Given the description of an element on the screen output the (x, y) to click on. 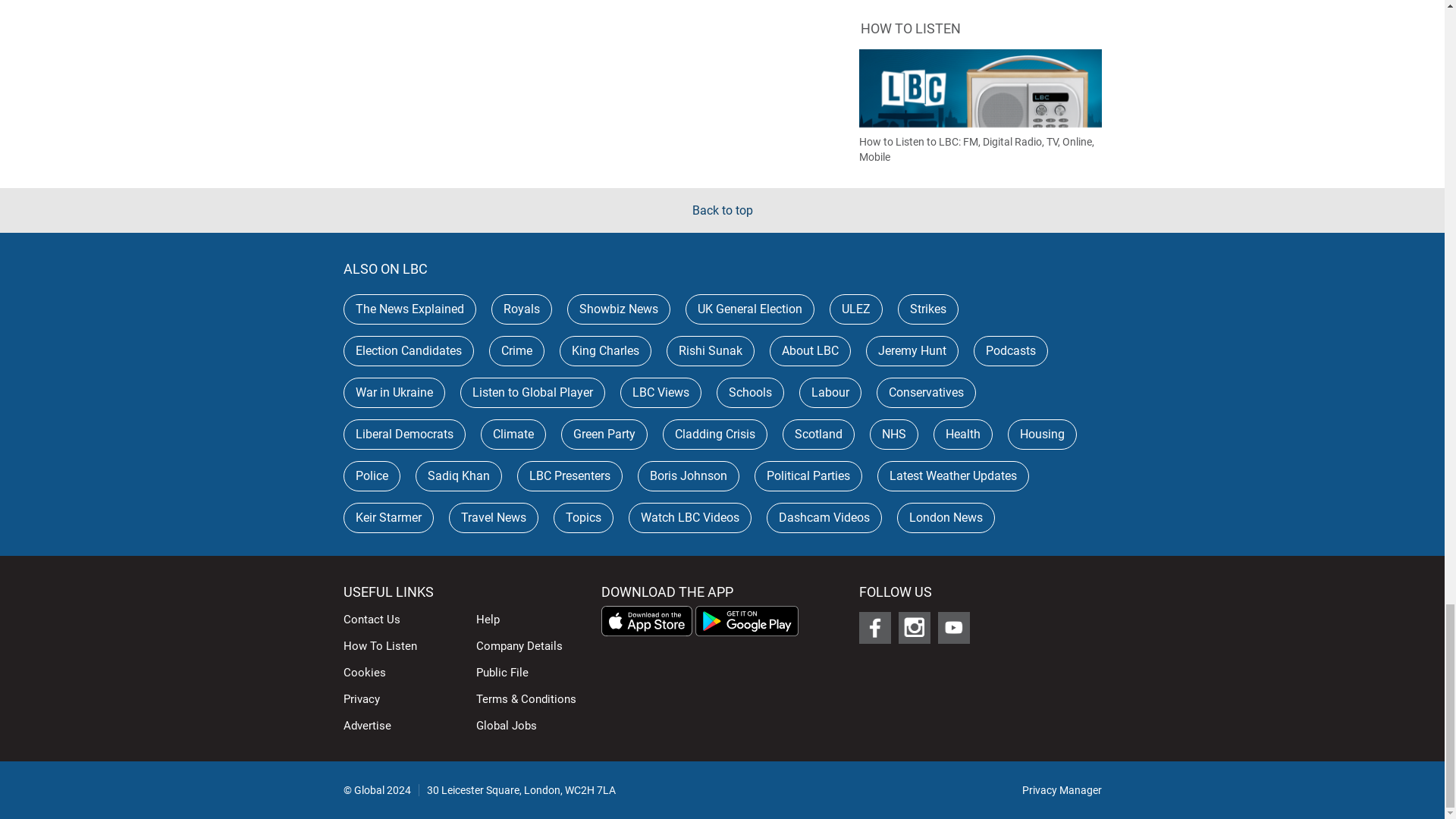
Follow LBC on Youtube (953, 627)
Back to top (721, 210)
Follow LBC on Facebook (874, 627)
Follow LBC on Instagram (914, 627)
